Given the description of an element on the screen output the (x, y) to click on. 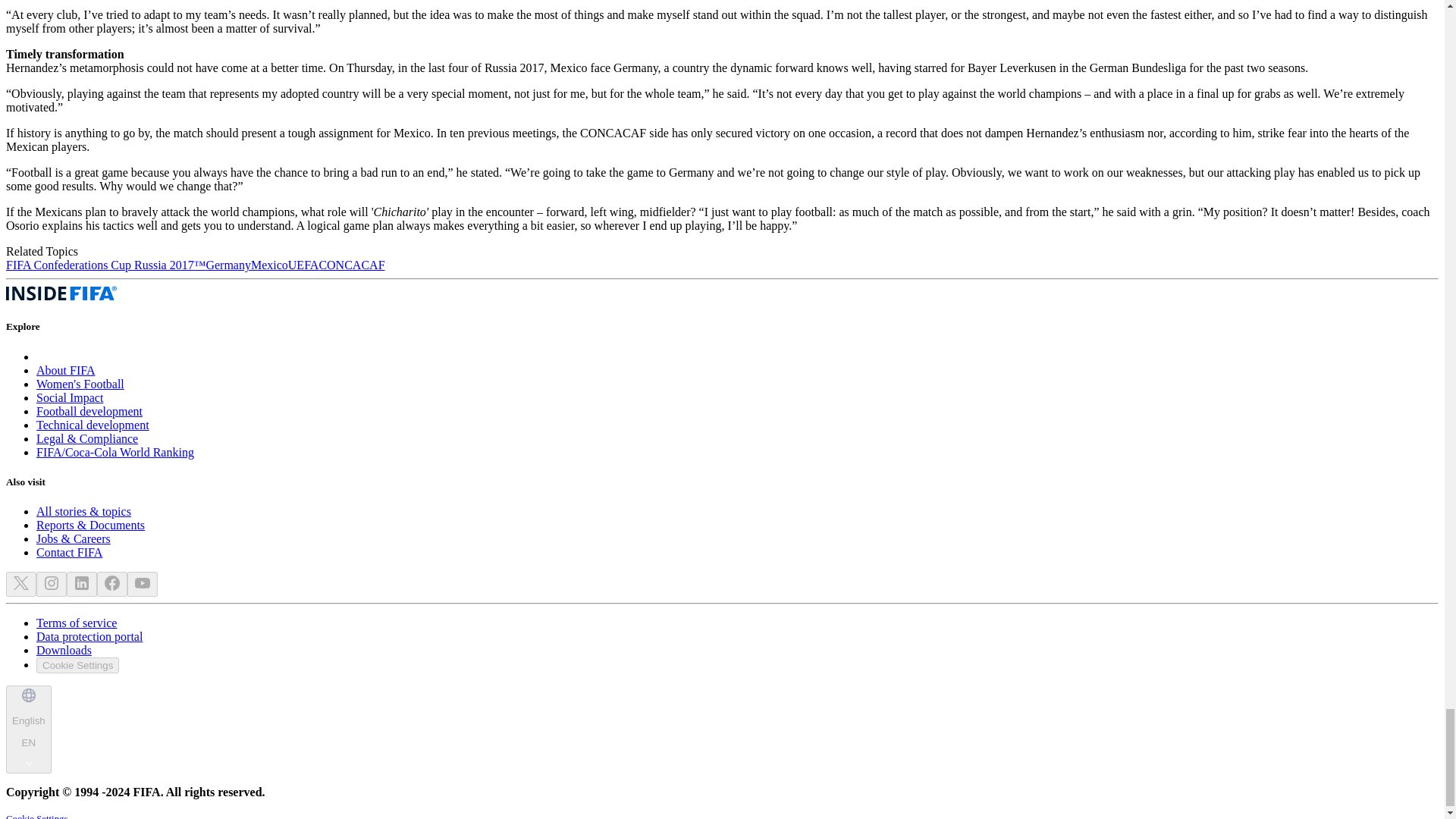
UEFA (303, 264)
Terms of service (76, 622)
Social Impact (69, 397)
About FIFA (66, 369)
CONCACAF (351, 264)
Technical development (92, 424)
Downloads (63, 649)
Cookie Settings (77, 665)
Contact FIFA (68, 552)
Football development (89, 410)
